Given the description of an element on the screen output the (x, y) to click on. 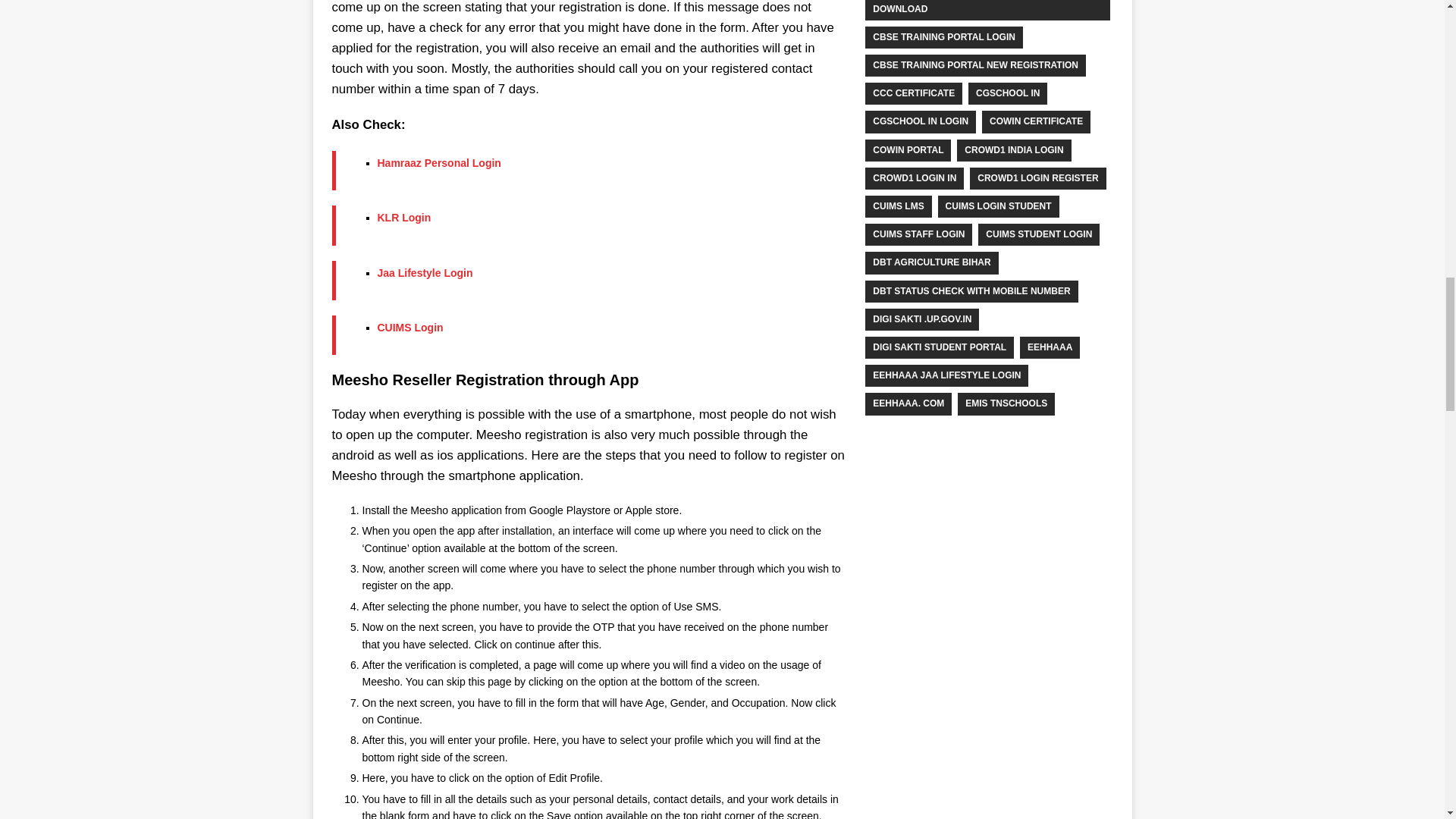
KLR Login (403, 217)
CUIMS Login (410, 327)
Hamraaz Personal Login (438, 162)
Jaa Lifestyle Login (425, 272)
